Given the description of an element on the screen output the (x, y) to click on. 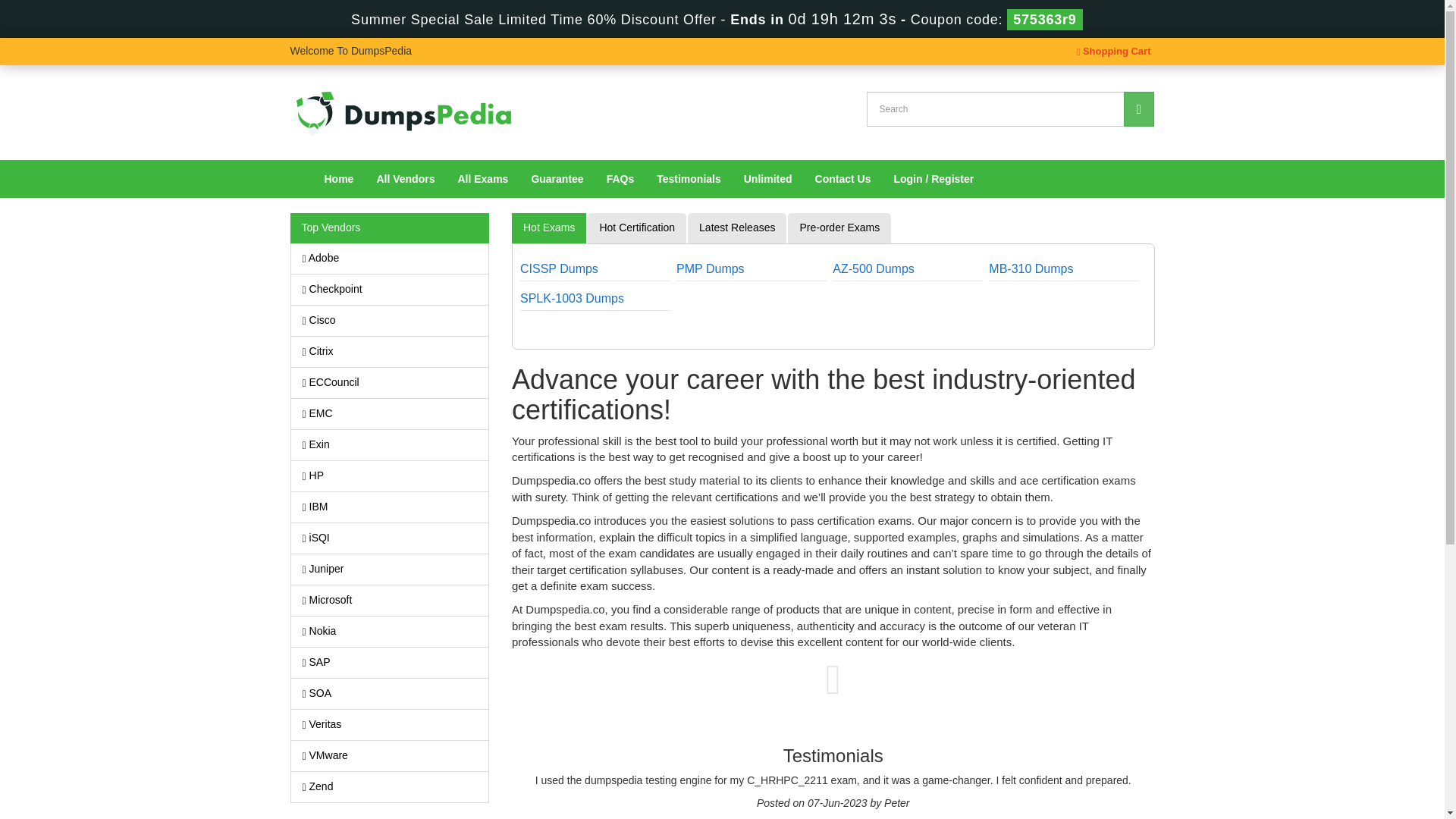
Hot Certification (636, 227)
Microsoft (390, 600)
Microsoft (390, 600)
SAP (390, 662)
All Vendors (405, 178)
Nokia (390, 631)
Hot Exams (549, 227)
IBM (390, 507)
EMC (390, 413)
VMware (390, 756)
Checkpoint (390, 289)
VMware (390, 756)
iSQI (390, 538)
FAQs (620, 178)
EMC (390, 413)
